Given the description of an element on the screen output the (x, y) to click on. 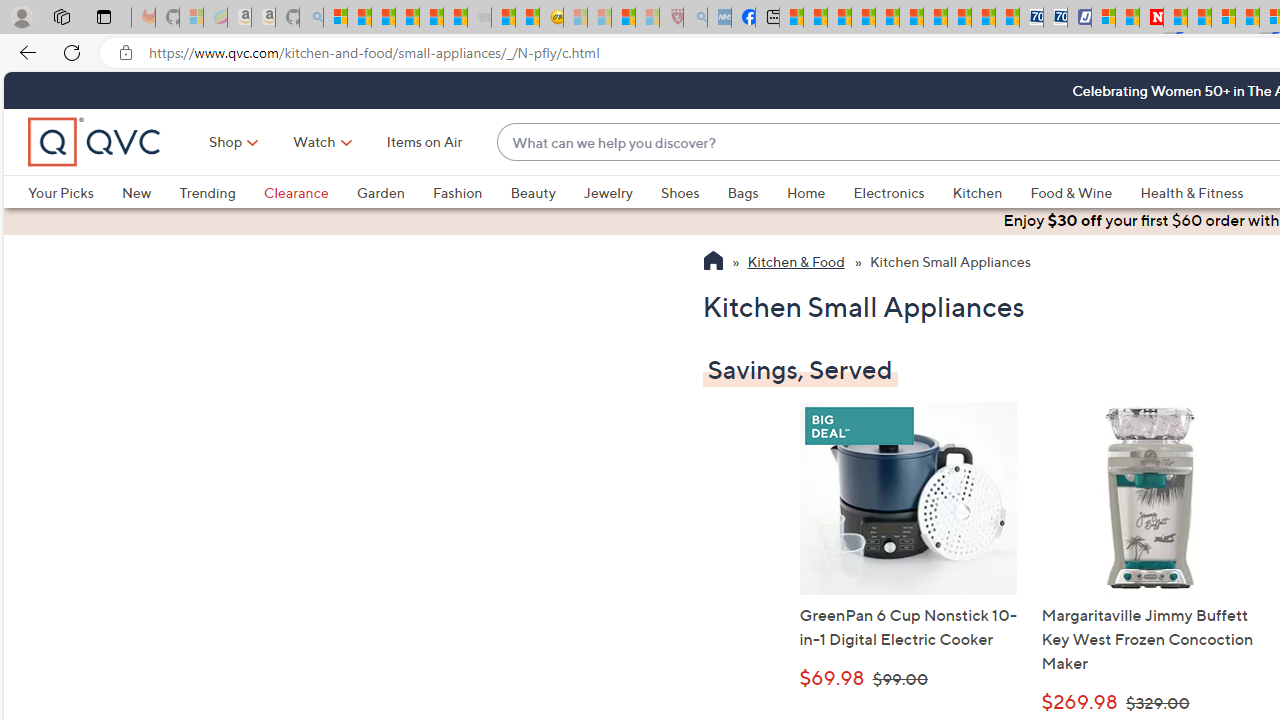
Health & Fitness (1197, 192)
New (150, 192)
Jewelry (607, 192)
QVC home (95, 141)
Clearance (295, 192)
Combat Siege - Sleeping (479, 17)
Trending (221, 192)
